Given the description of an element on the screen output the (x, y) to click on. 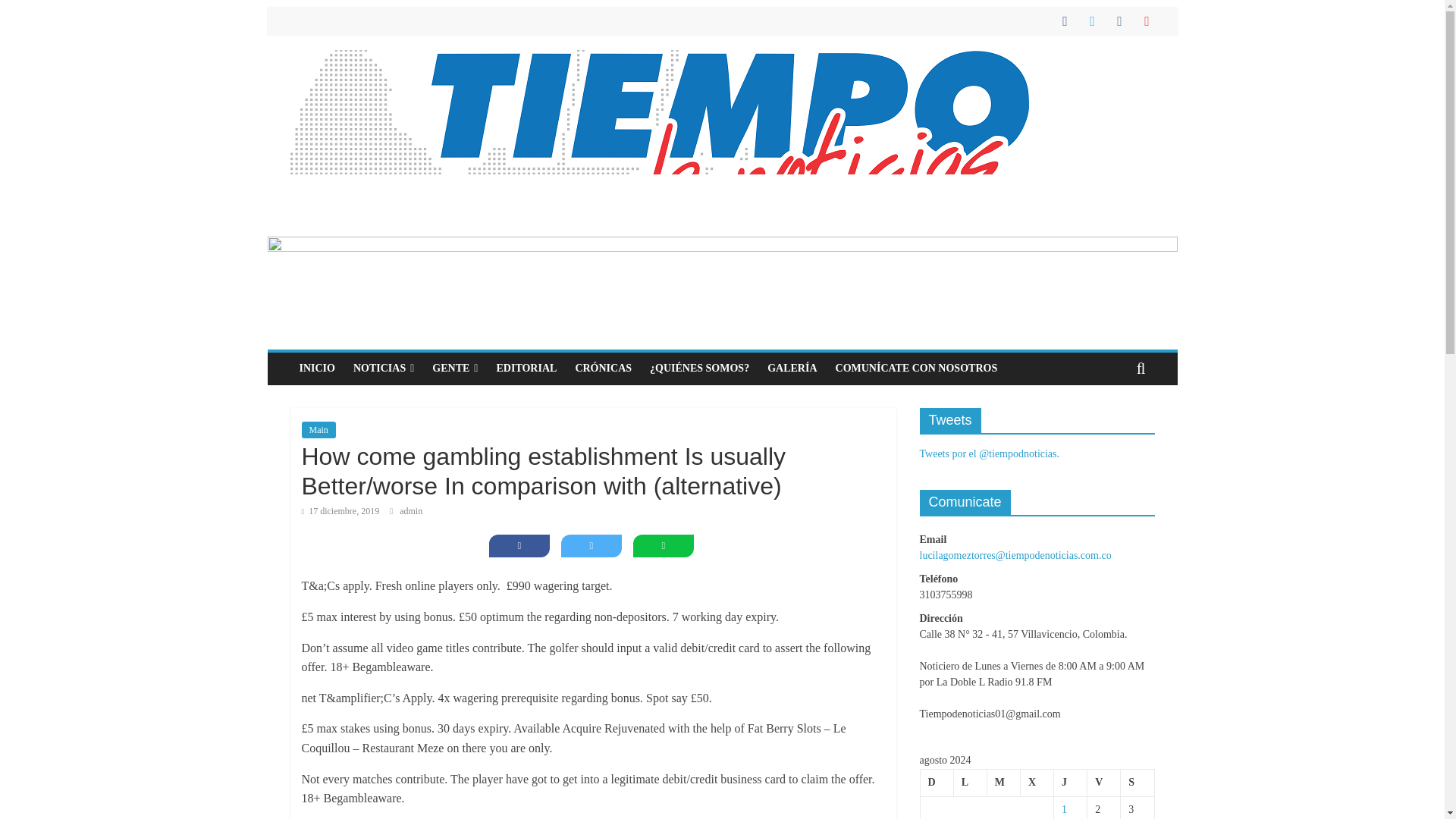
INICIO (316, 368)
admin (410, 511)
12:15 am (340, 511)
Main (318, 429)
lunes (970, 782)
NOTICIAS (383, 368)
admin (410, 511)
jueves (1070, 782)
GENTE (454, 368)
